Given the description of an element on the screen output the (x, y) to click on. 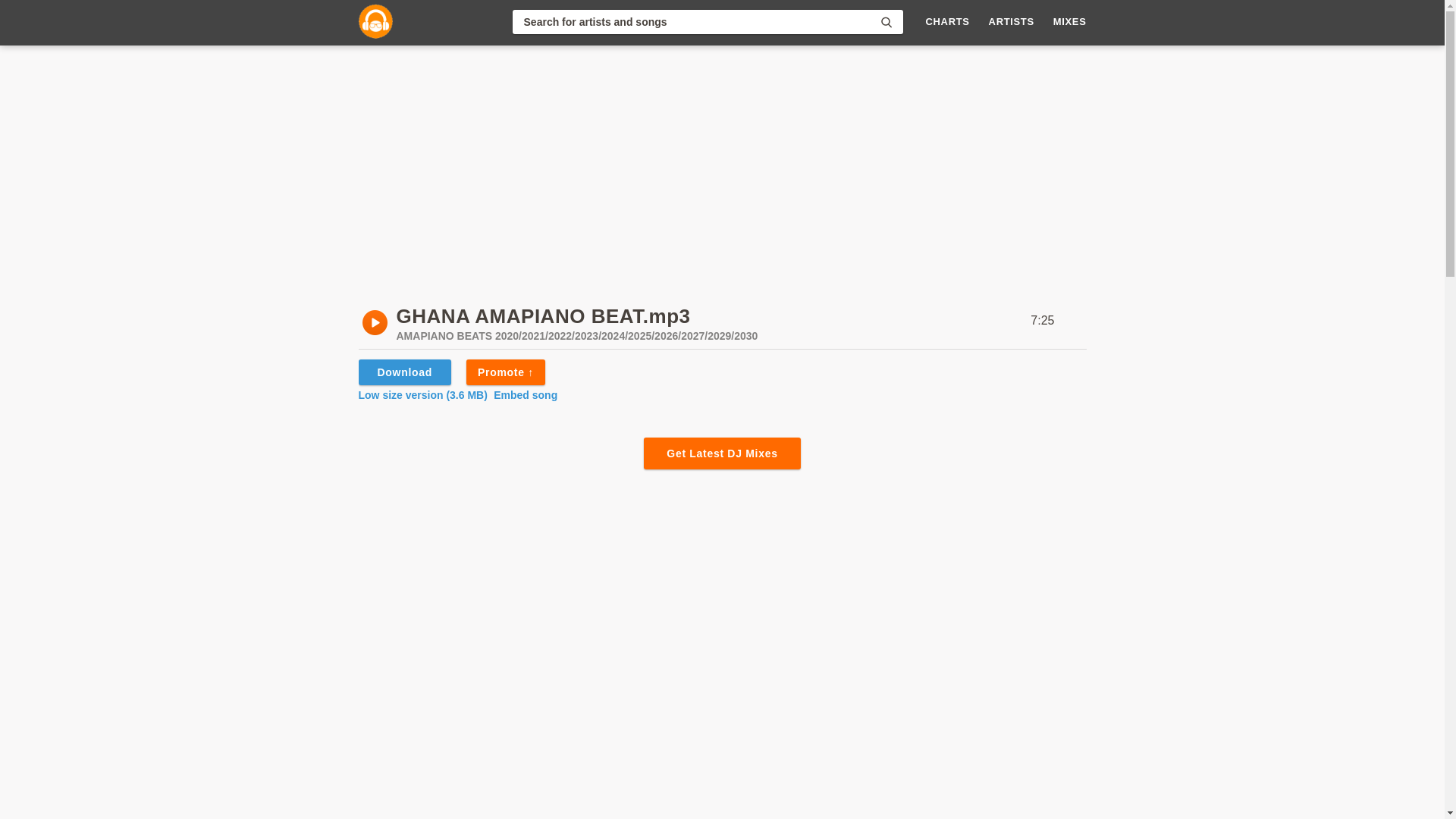
Get Latest DJ Mixes (721, 453)
Embed song (525, 395)
MIXES (1069, 21)
ARTISTS (1010, 21)
CHARTS (947, 21)
Search (885, 21)
Download (403, 371)
Advertisement (721, 788)
